Given the description of an element on the screen output the (x, y) to click on. 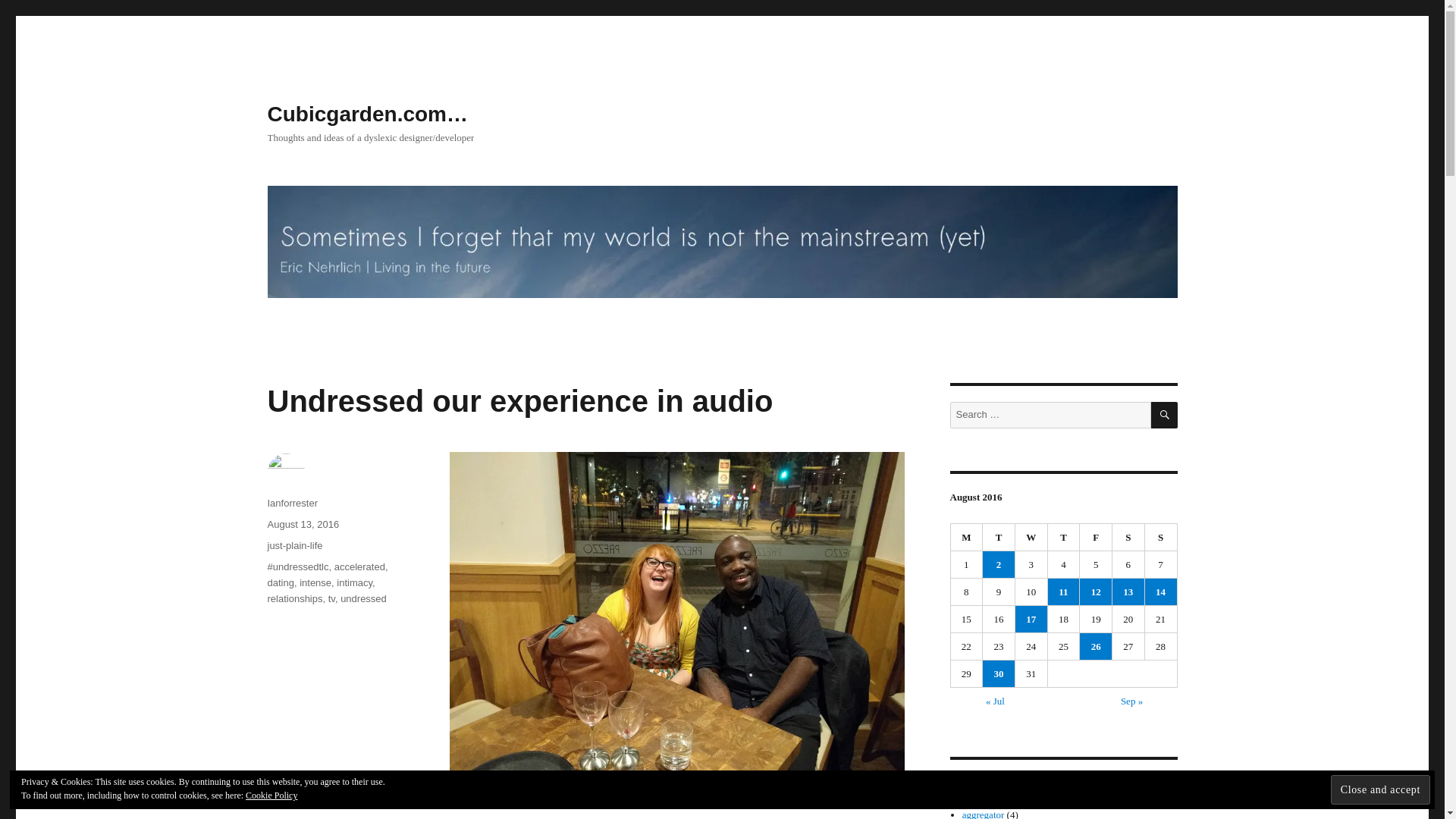
accelerated (359, 566)
just-plain-life (293, 545)
relationships (293, 598)
Close and accept (1379, 789)
intimacy (354, 582)
tv (331, 598)
Ianforrester (291, 502)
undressed (363, 598)
August 13, 2016 (302, 523)
dating (280, 582)
intense (315, 582)
